Given the description of an element on the screen output the (x, y) to click on. 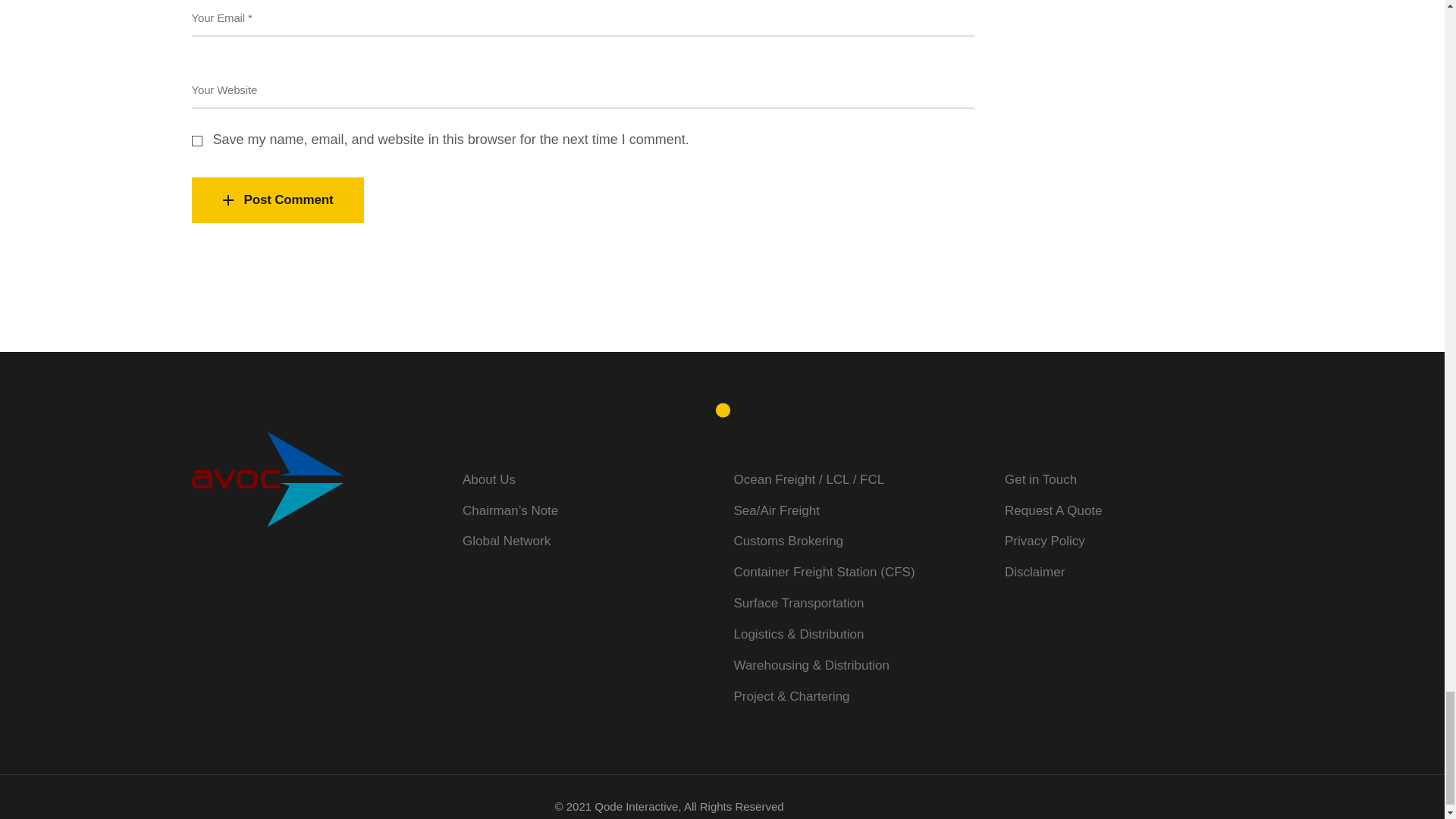
yes (196, 140)
